Given the description of an element on the screen output the (x, y) to click on. 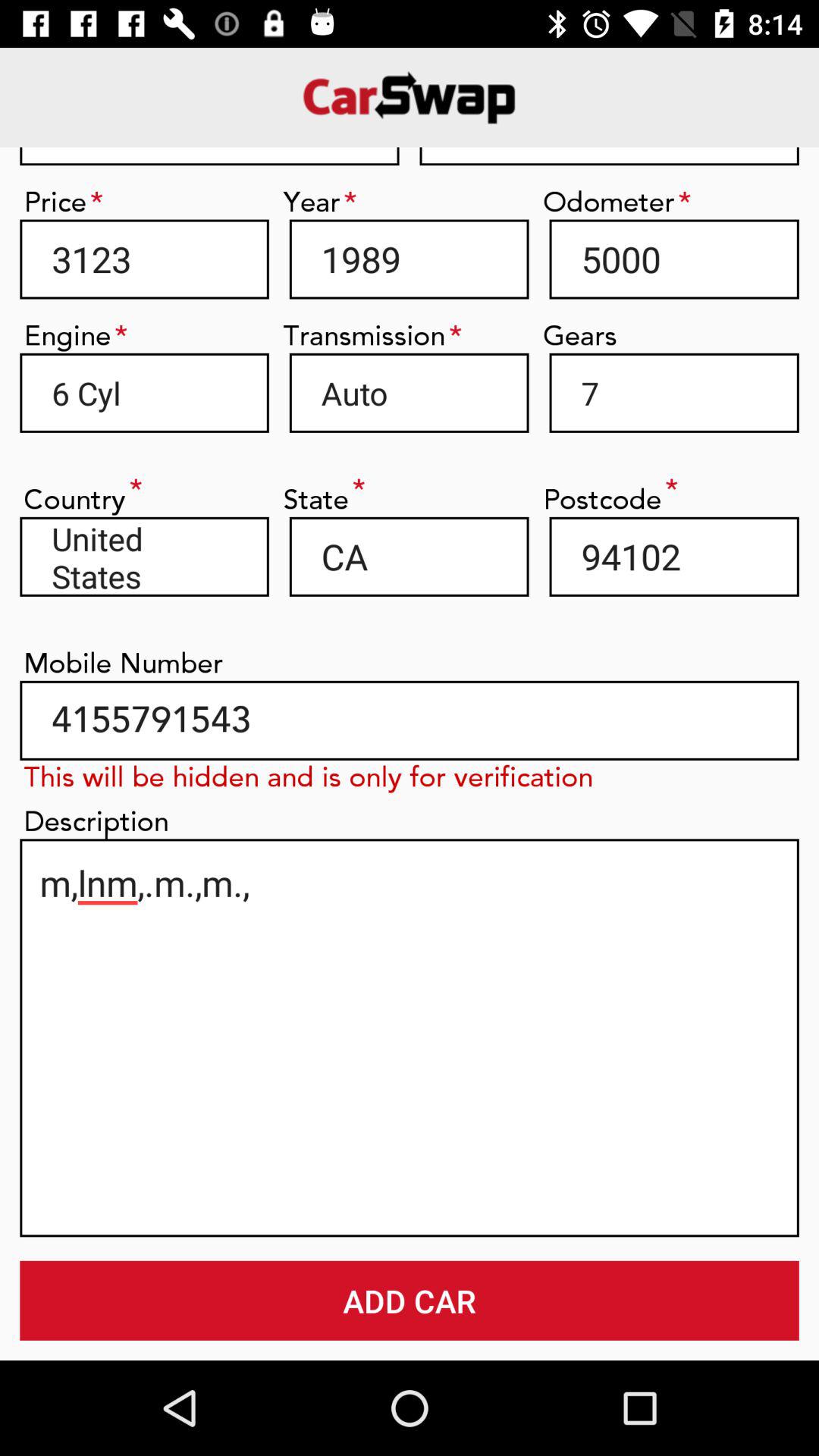
launch 3123 (144, 259)
